Given the description of an element on the screen output the (x, y) to click on. 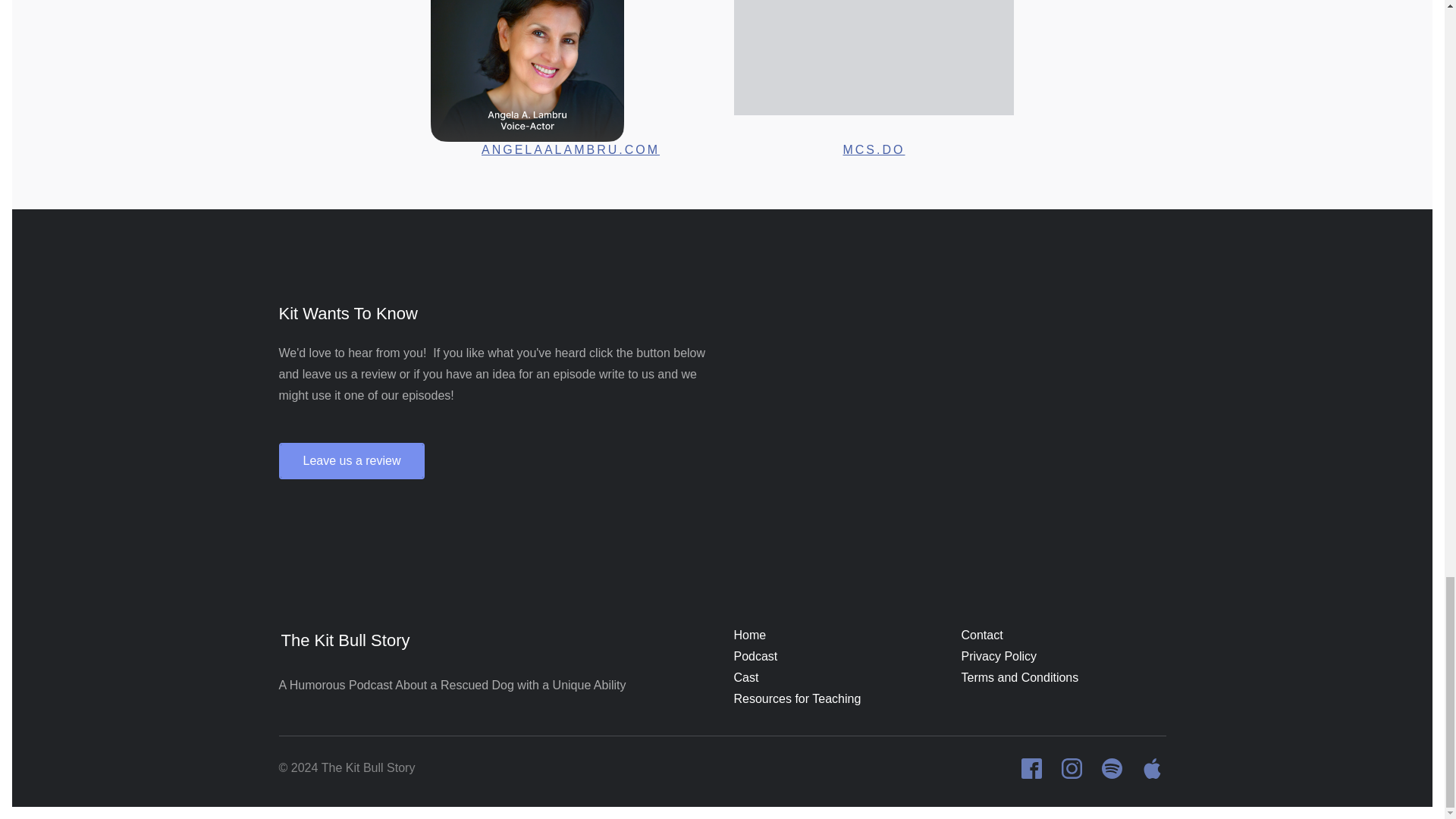
Cast (745, 677)
Leave us a review (352, 461)
Terms and Conditions (1019, 677)
Privacy Policy (998, 656)
Contact (981, 635)
MCS.DO (873, 149)
Resources for Teaching (797, 699)
Podcast (755, 656)
Home (750, 635)
The Kit Bull Story (456, 640)
ANGELAALAMBRU.COM (570, 149)
